Given the description of an element on the screen output the (x, y) to click on. 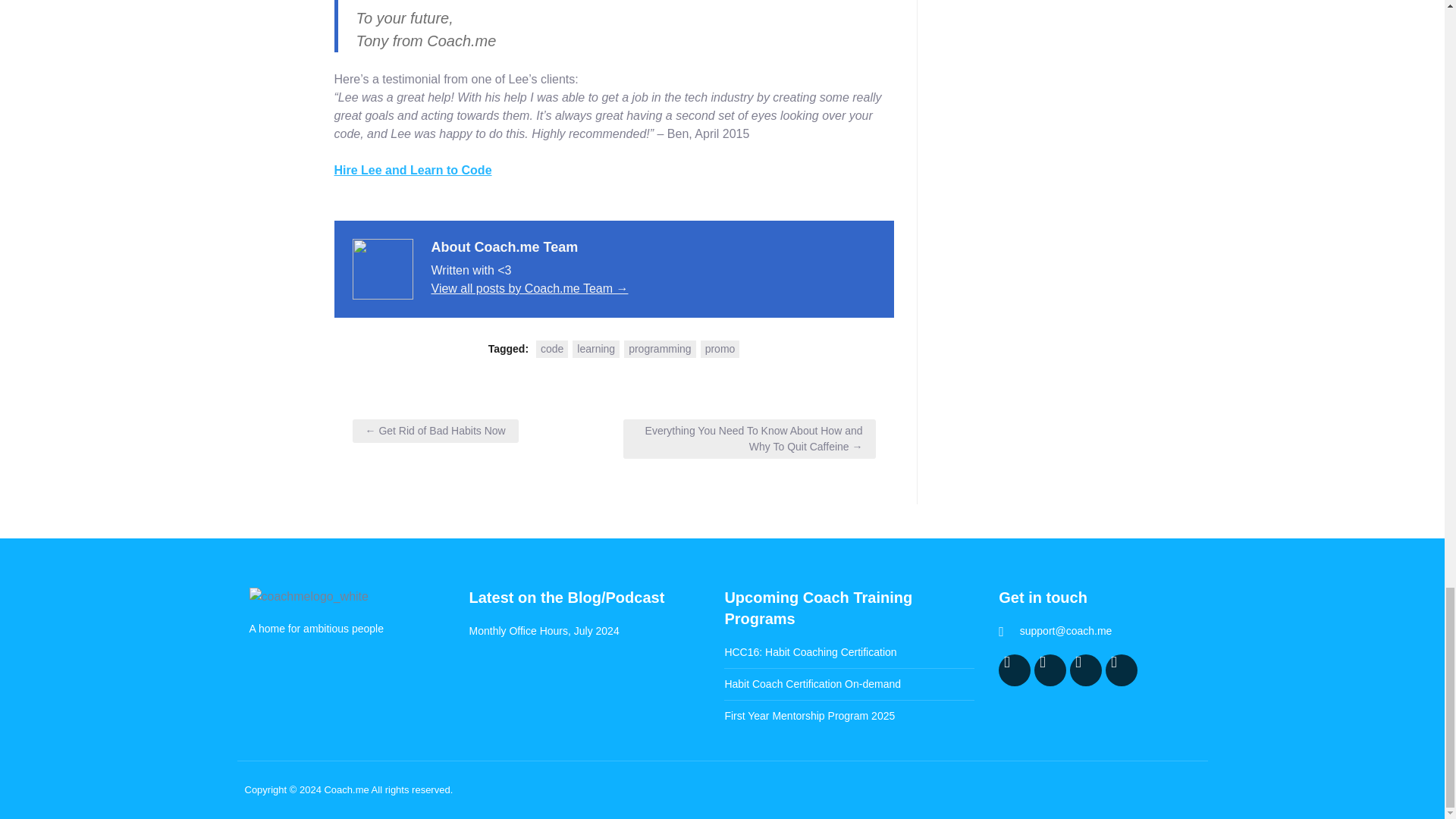
promo (719, 348)
Hire Lee and Learn to Code (412, 169)
programming (659, 348)
code (551, 348)
learning (596, 348)
